Given the description of an element on the screen output the (x, y) to click on. 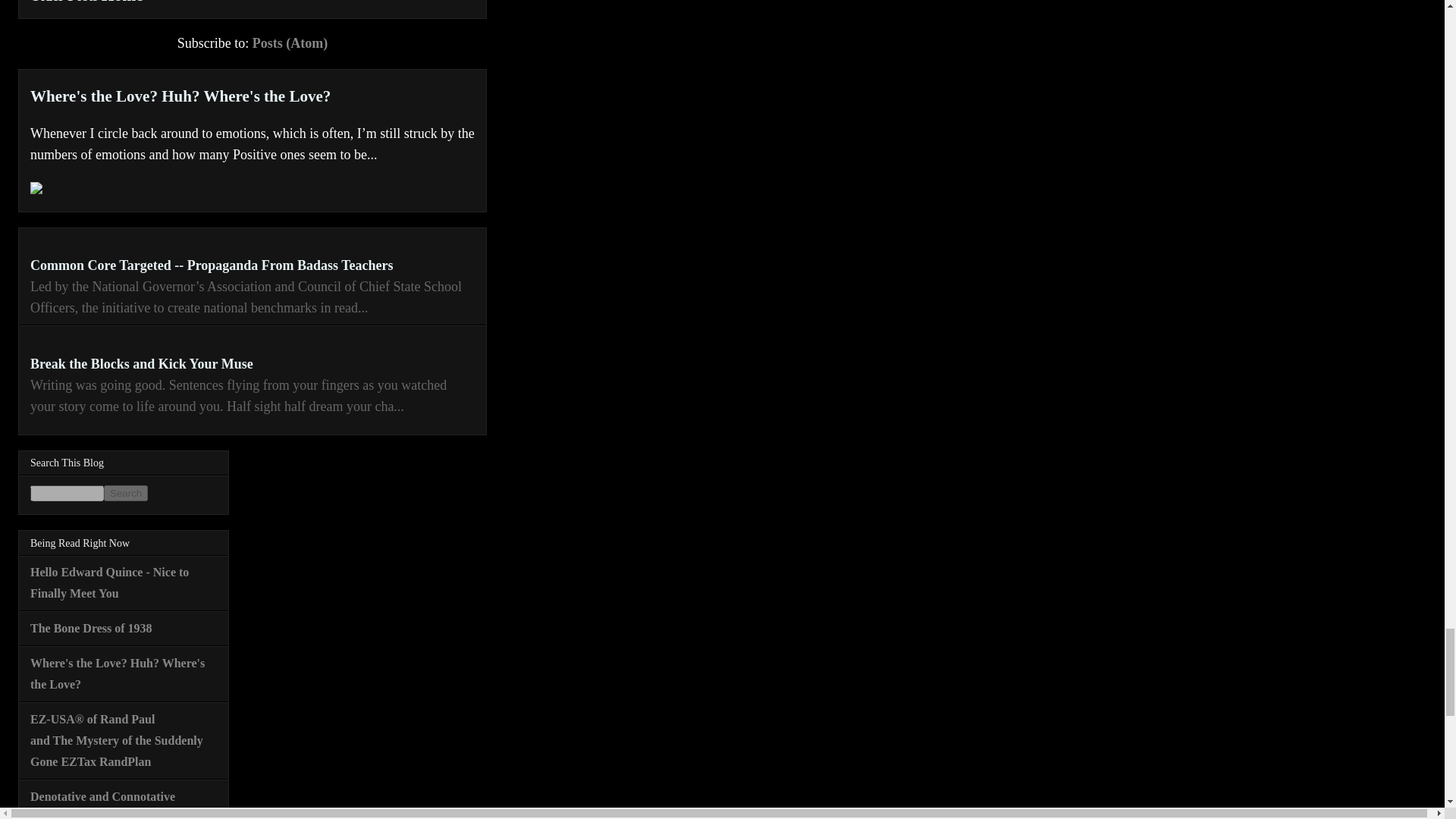
Search (125, 493)
Search (125, 493)
